Given the description of an element on the screen output the (x, y) to click on. 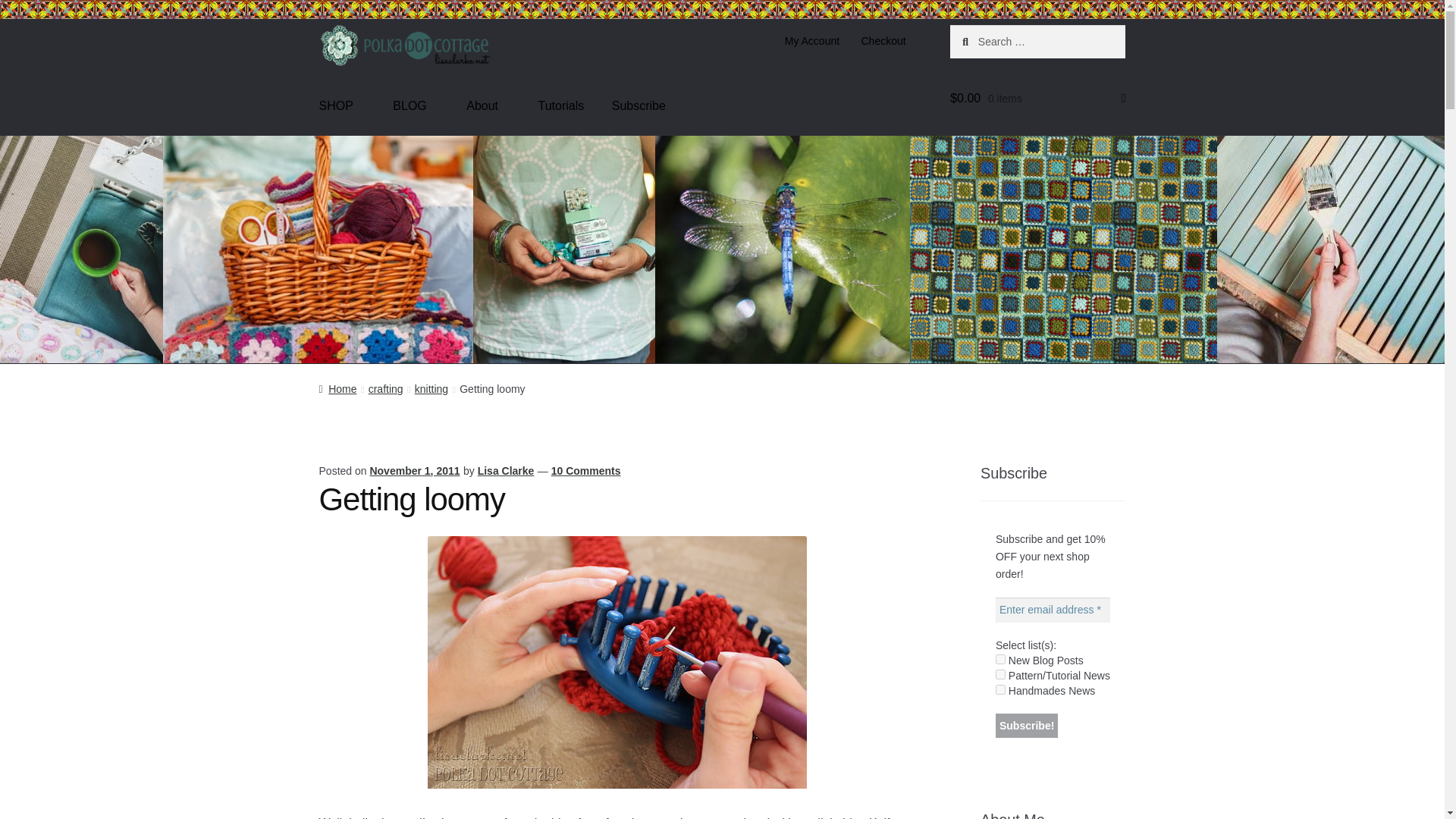
Checkout (883, 40)
SHOP (342, 105)
7 (1000, 689)
5 (1000, 659)
My Account (811, 40)
View your shopping cart (1037, 95)
